Given the description of an element on the screen output the (x, y) to click on. 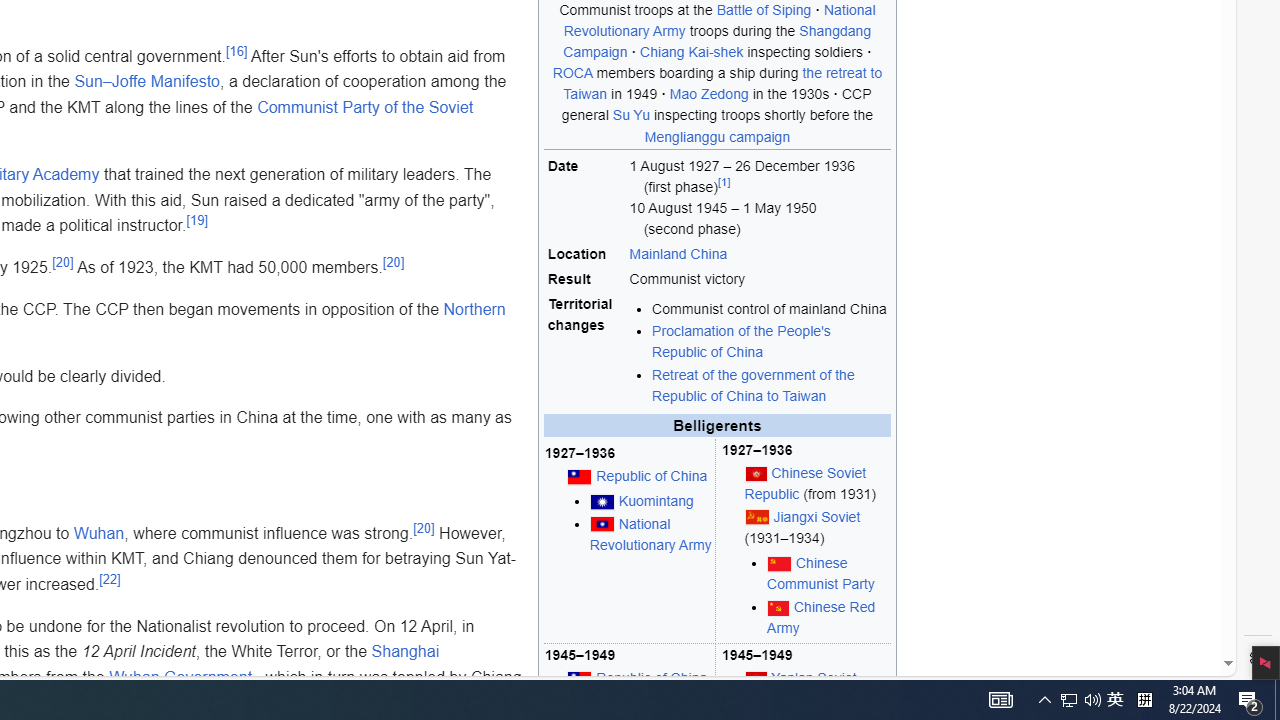
the retreat to Taiwan (723, 83)
Battle of Siping (763, 9)
Belligerents (717, 425)
Republic of China (651, 677)
Mainland China (678, 254)
Wuhan Government (180, 677)
